Given the description of an element on the screen output the (x, y) to click on. 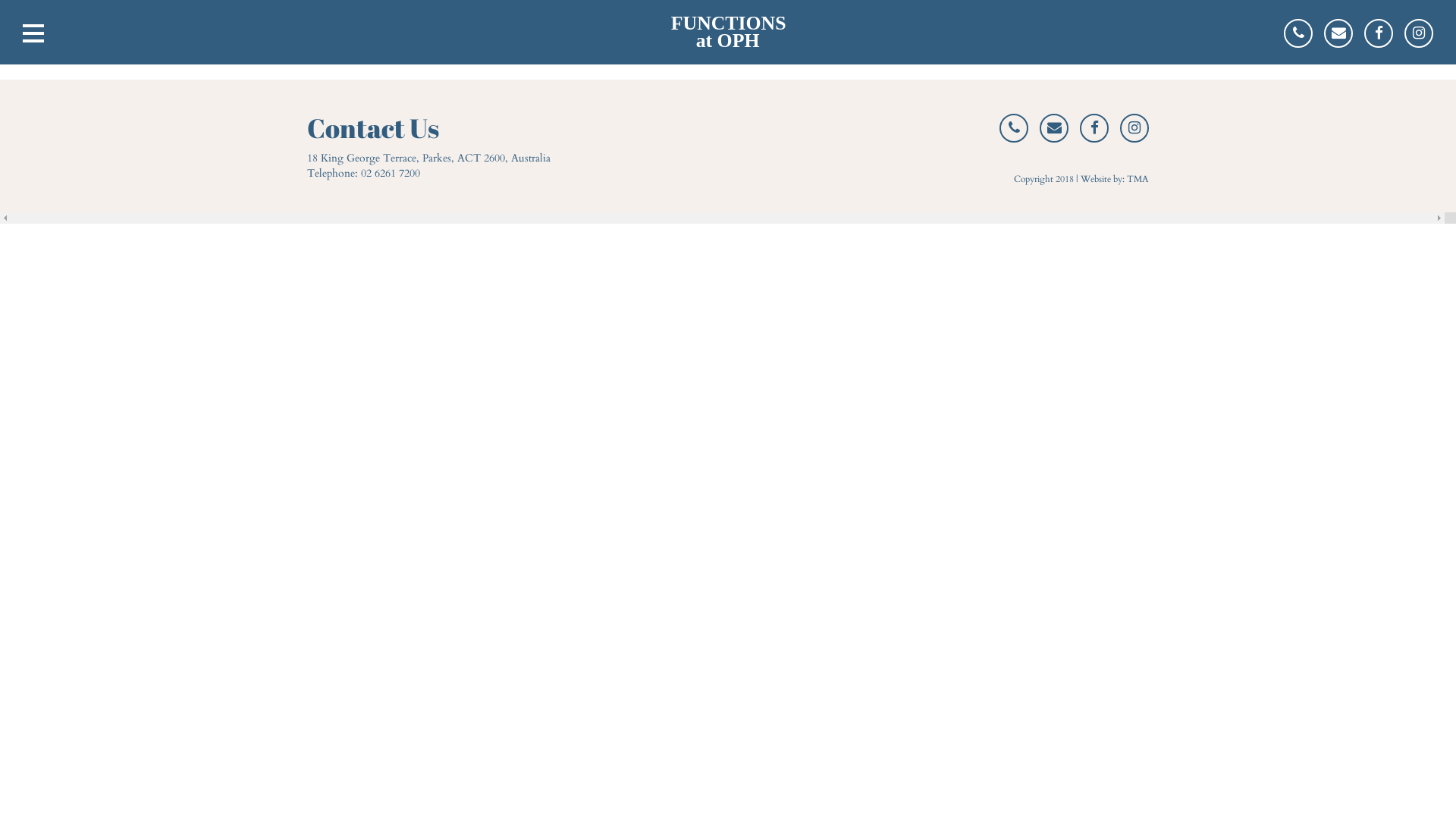
TMA Element type: text (1137, 178)
Functions at OPH Element type: hover (727, 32)
02 6261 7200 Element type: text (390, 172)
